Given the description of an element on the screen output the (x, y) to click on. 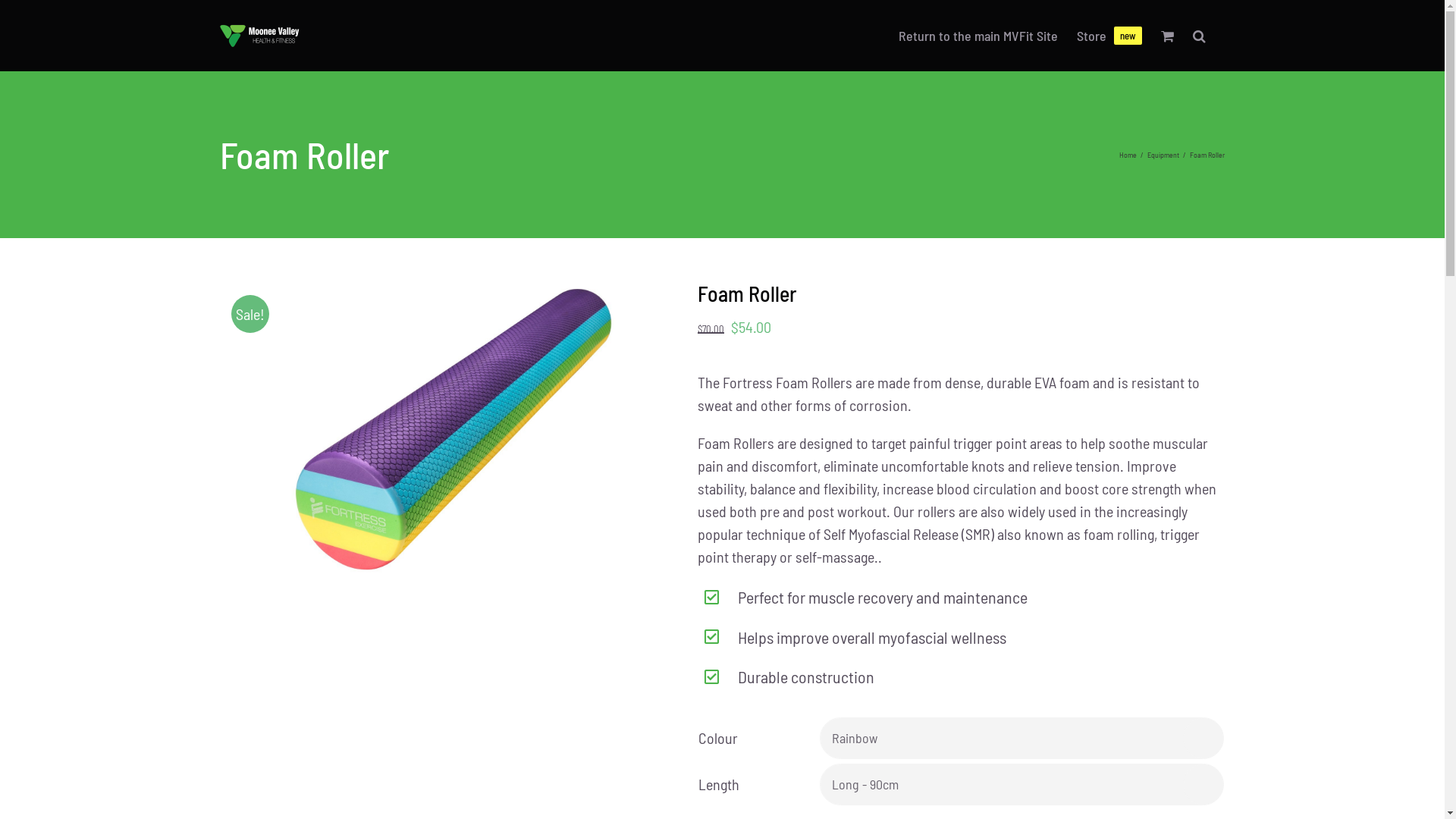
Store
new Element type: text (1109, 35)
Equipment Element type: text (1163, 154)
Search Element type: hover (1198, 35)
foam-roller-long-rainbow Element type: hover (446, 431)
Home Element type: text (1127, 154)
Return to the main MVFit Site Element type: text (977, 35)
